Given the description of an element on the screen output the (x, y) to click on. 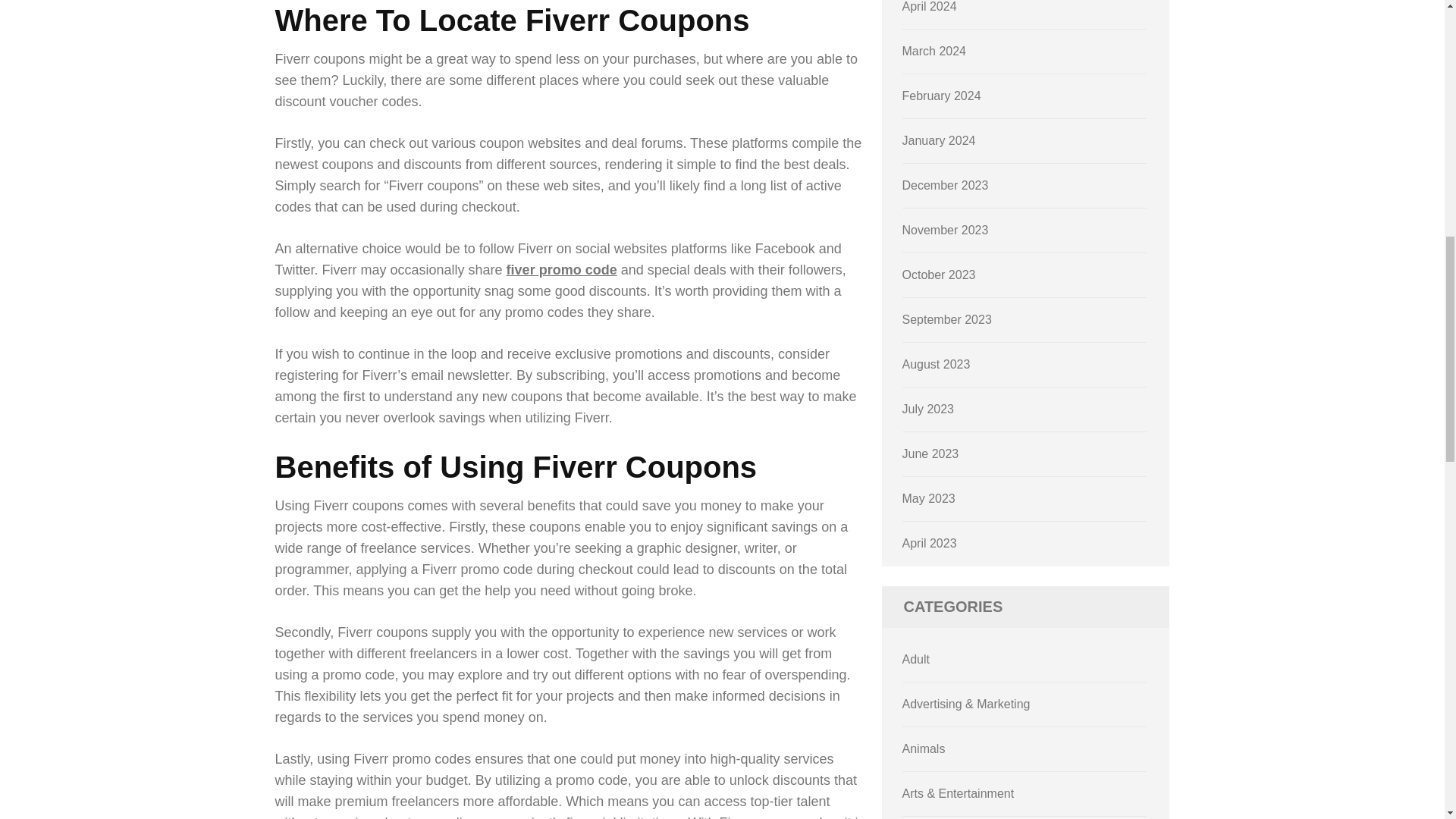
April 2024 (929, 6)
February 2024 (941, 95)
December 2023 (945, 185)
January 2024 (938, 140)
May 2023 (928, 498)
March 2024 (934, 51)
fiver promo code (561, 269)
April 2023 (929, 543)
November 2023 (945, 229)
August 2023 (936, 364)
Adult (916, 658)
June 2023 (930, 453)
October 2023 (938, 274)
September 2023 (946, 318)
July 2023 (928, 408)
